Given the description of an element on the screen output the (x, y) to click on. 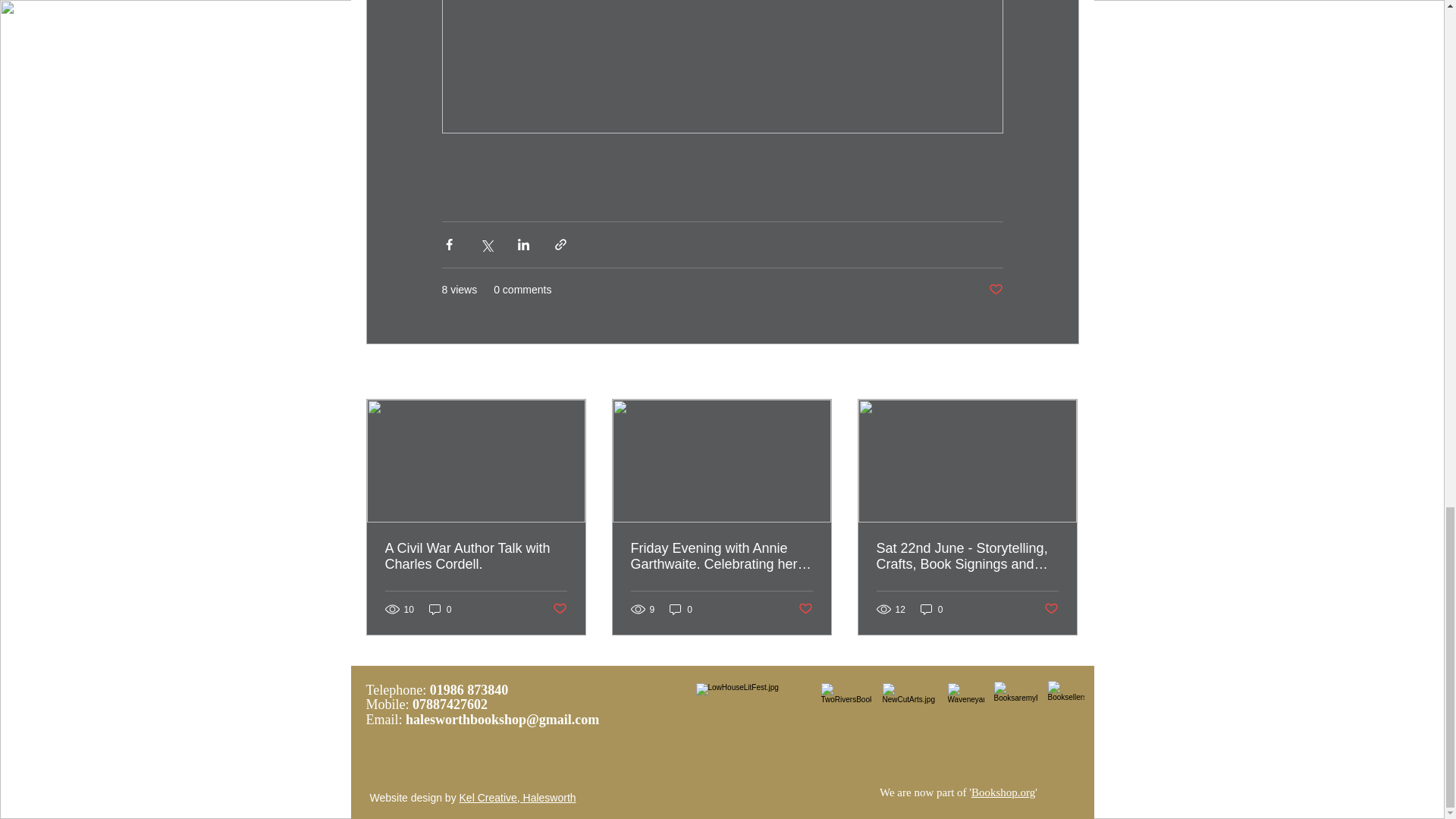
0 (440, 608)
0 (681, 608)
0 (931, 608)
Bookshop.org (1003, 792)
Post not marked as liked (1050, 609)
A Civil War Author Talk with Charles Cordell. (476, 556)
Post not marked as liked (804, 609)
Post not marked as liked (995, 289)
